Given the description of an element on the screen output the (x, y) to click on. 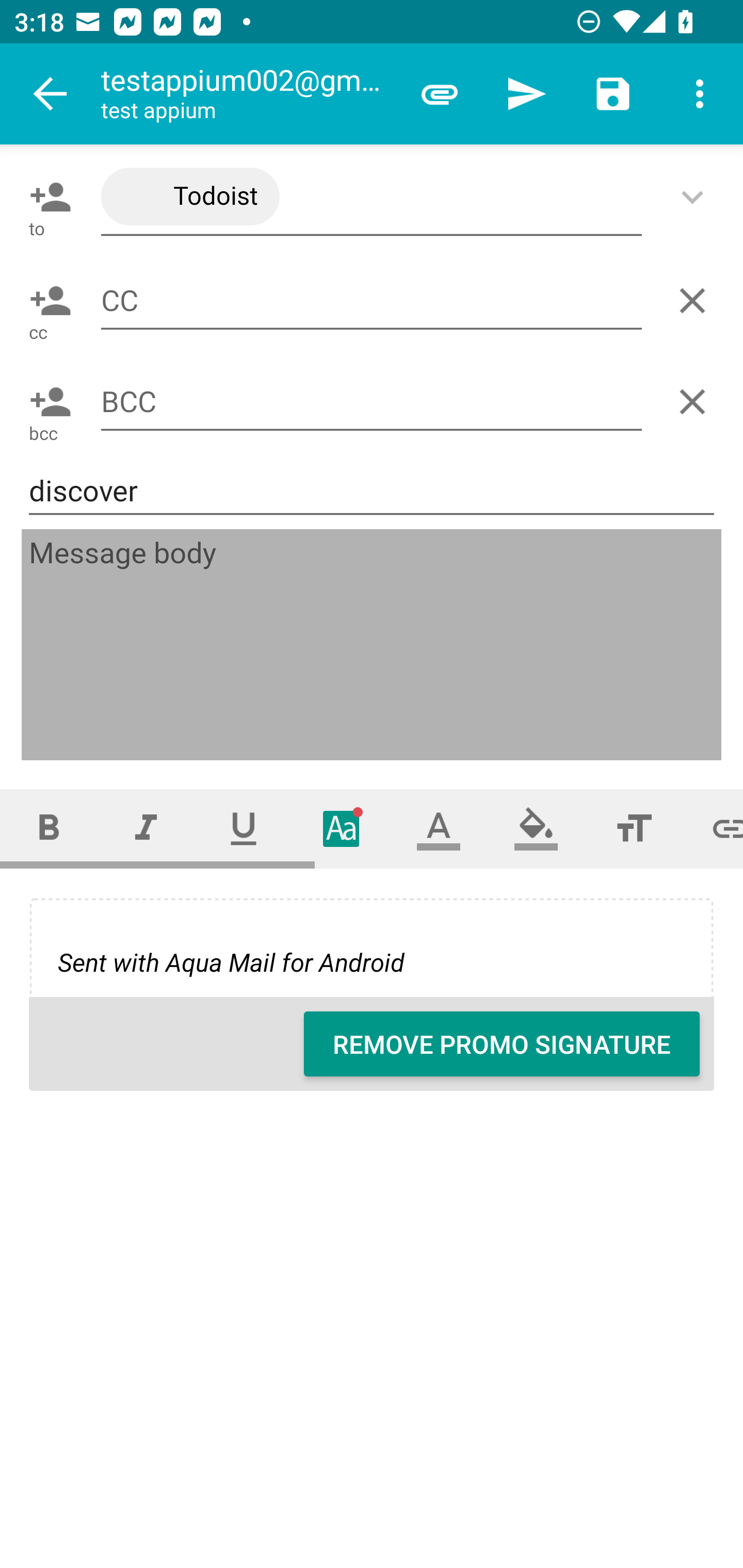
Navigate up (50, 93)
testappium002@gmail.com test appium (248, 93)
Attach (439, 93)
Send (525, 93)
Save (612, 93)
More options (699, 93)
Todoist <no-reply@todoist.com>,  (371, 197)
Pick contact: To (46, 196)
Show/Add CC/BCC (696, 196)
Pick contact: CC (46, 300)
Delete (696, 300)
CC (371, 300)
Pick contact: BCC (46, 401)
Delete (696, 401)
BCC (371, 402)
discover (371, 490)
Message body (372, 645)
Bold (48, 828)
Italic (145, 828)
Underline (243, 828)
Typeface (font) (341, 828)
Text color (438, 828)
Fill color (536, 828)
Font size (633, 828)
REMOVE PROMO SIGNATURE (501, 1044)
